Given the description of an element on the screen output the (x, y) to click on. 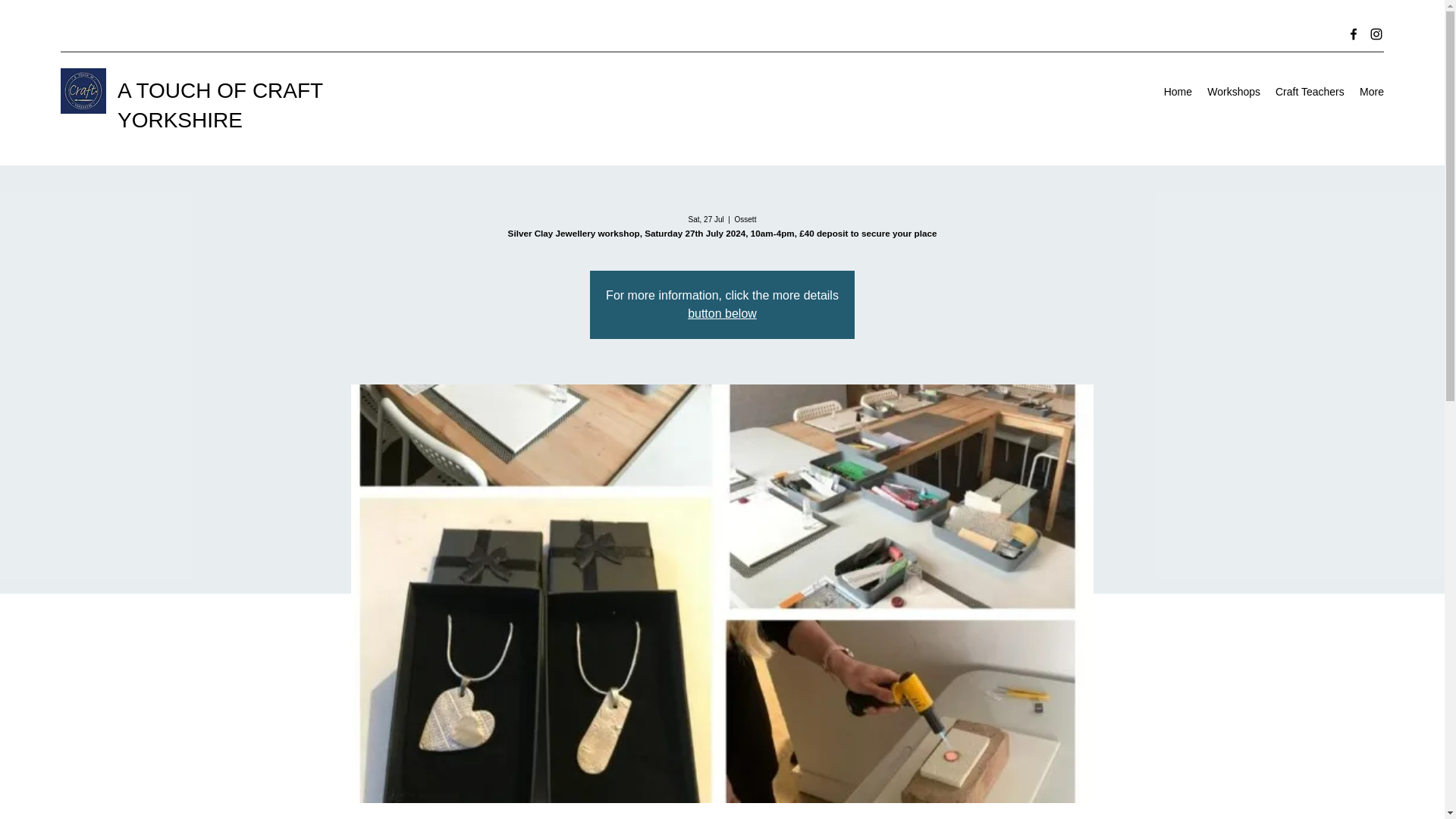
Workshops (1233, 91)
Craft Teachers (1309, 91)
button below (722, 313)
A TOUCH OF CRAFT YORKSHIRE (220, 104)
Home (1177, 91)
